Given the description of an element on the screen output the (x, y) to click on. 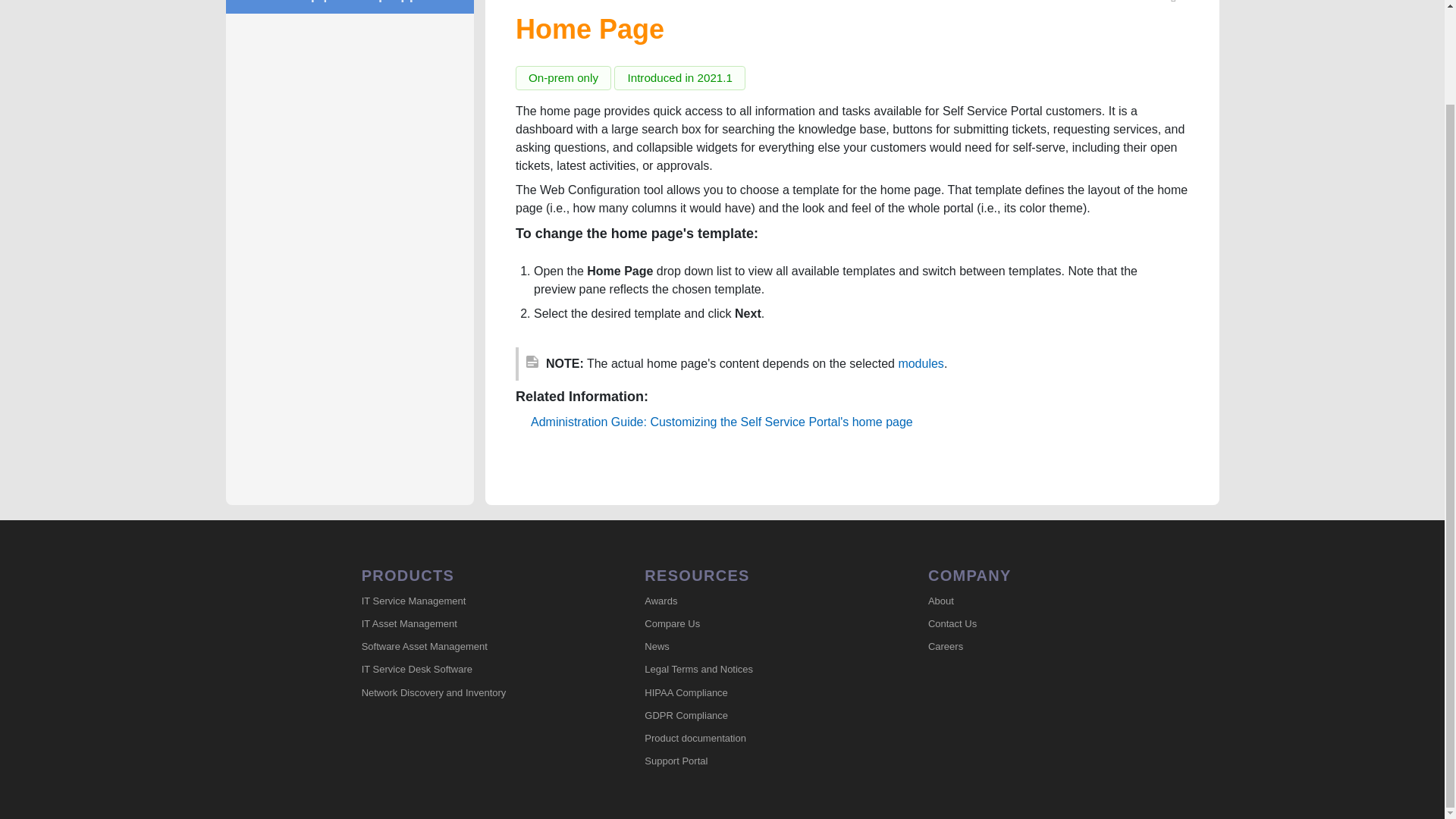
IT Service Management (468, 600)
About (1034, 600)
Awards (751, 600)
GDPR Compliance (751, 715)
Legal Terms and Notices (751, 670)
Software Asset Management (468, 647)
IT Asset Management (468, 623)
Contact Us (1034, 623)
Support Portal (751, 762)
modules (920, 363)
Print (1173, 4)
News (751, 647)
HIPAA Compliance (751, 692)
Product documentation (751, 738)
Compare Us (751, 623)
